Given the description of an element on the screen output the (x, y) to click on. 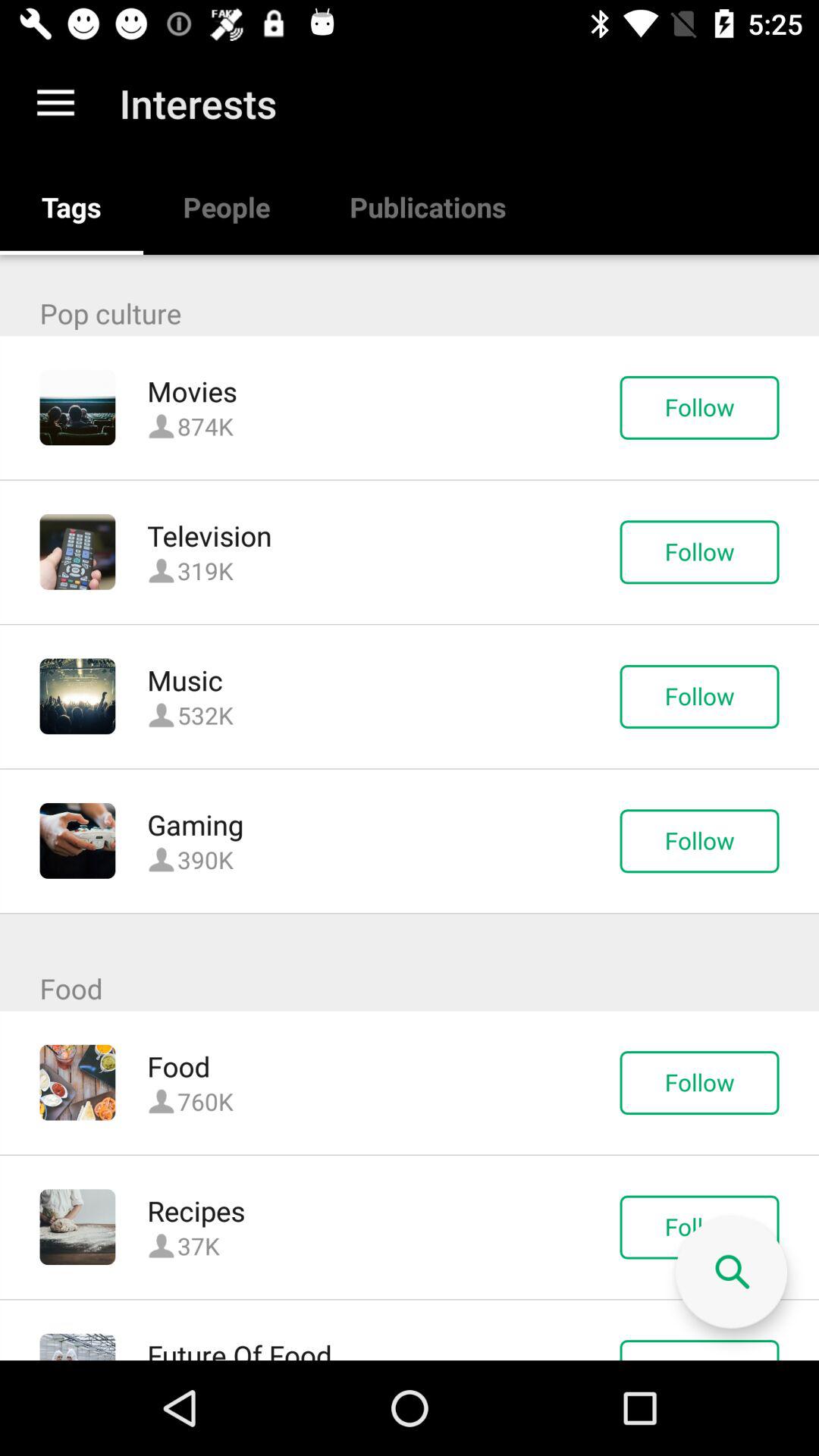
free search button (731, 1272)
